Given the description of an element on the screen output the (x, y) to click on. 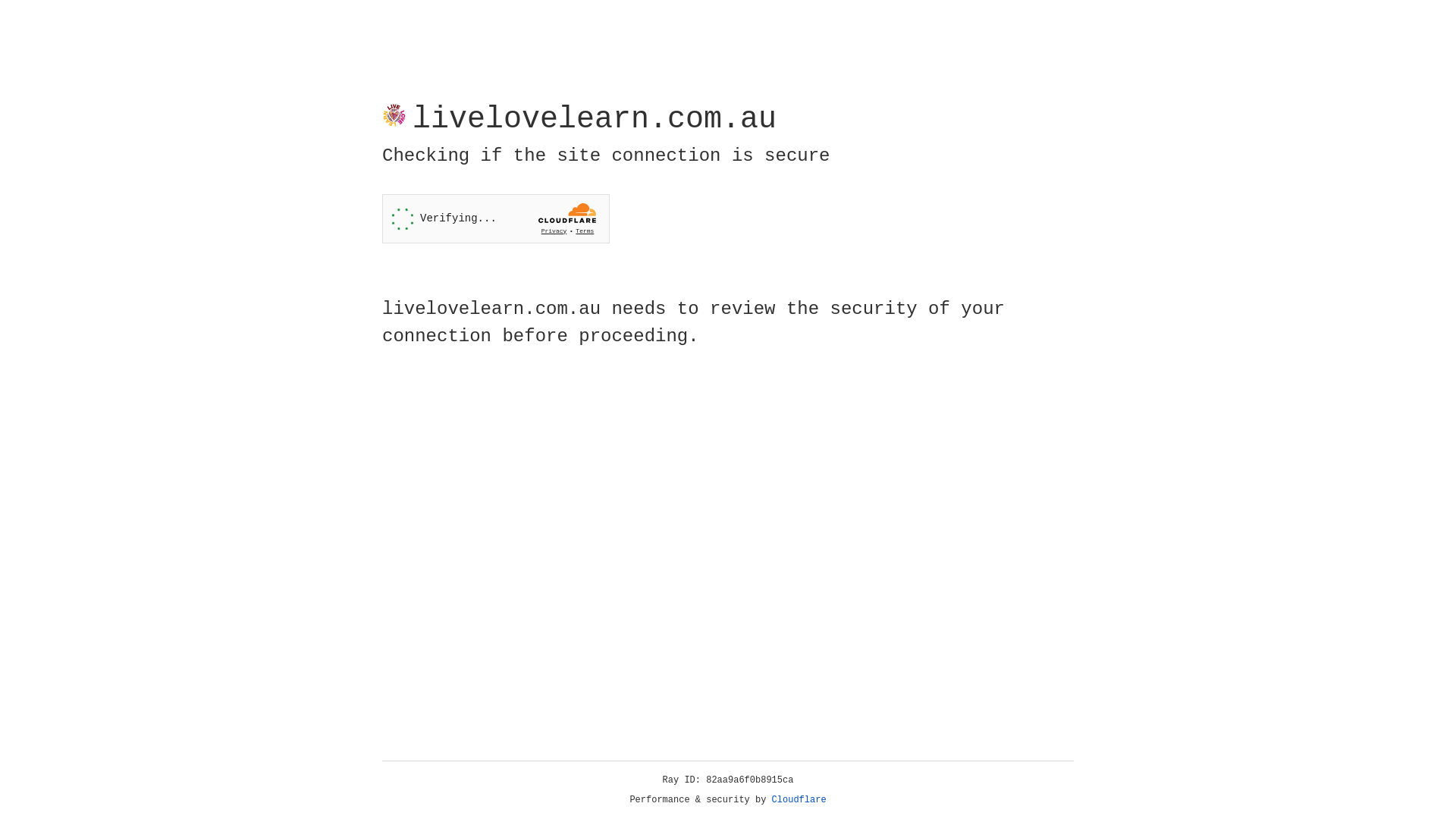
Cloudflare Element type: text (798, 799)
Widget containing a Cloudflare security challenge Element type: hover (495, 218)
